Given the description of an element on the screen output the (x, y) to click on. 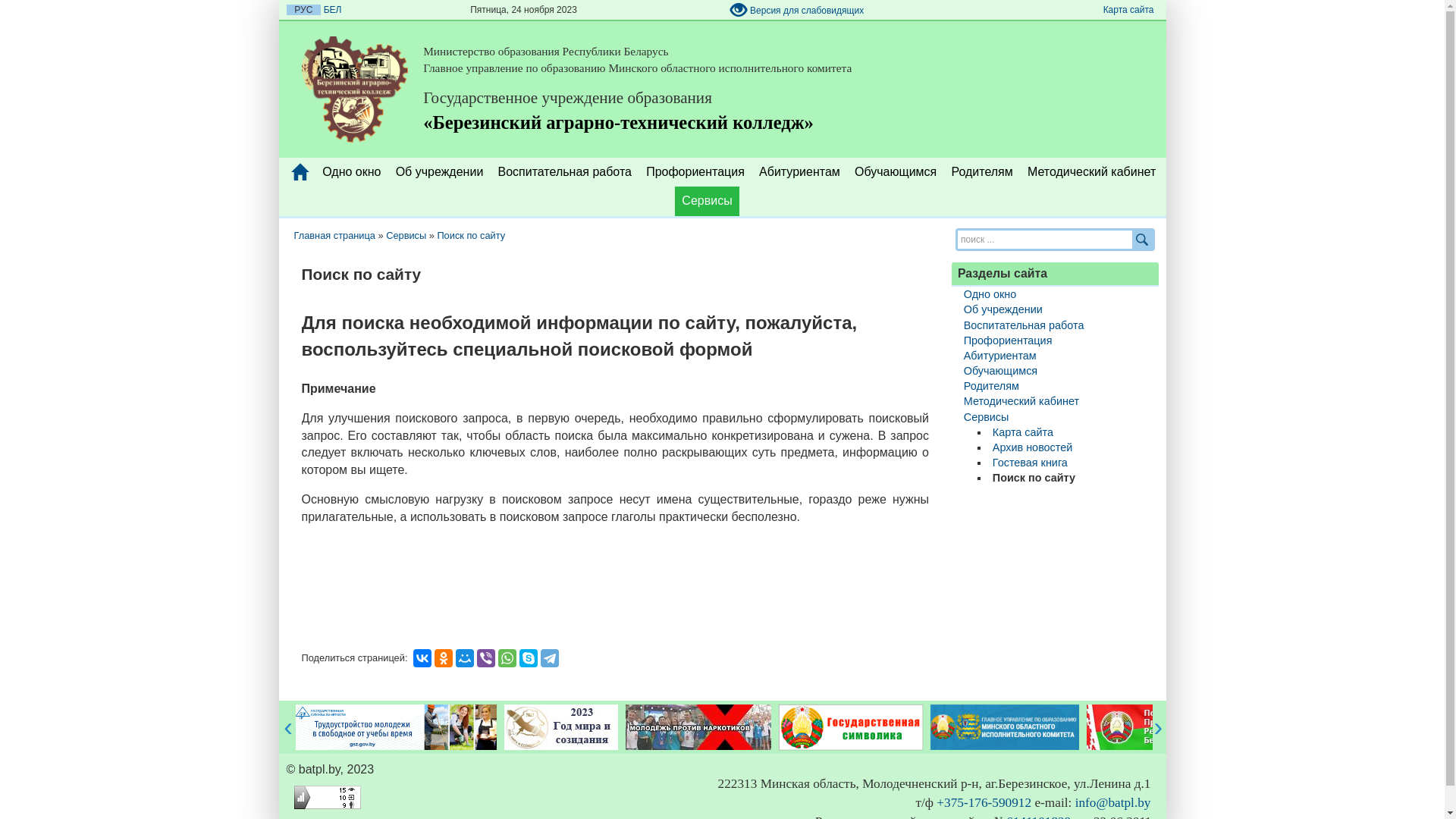
Viber Element type: hover (485, 658)
Skype Element type: hover (528, 658)
Telegram Element type: hover (549, 658)
+375-176-590912 Element type: text (983, 802)
info@batpl.by Element type: text (1113, 802)
WhatsApp Element type: hover (507, 658)
